Given the description of an element on the screen output the (x, y) to click on. 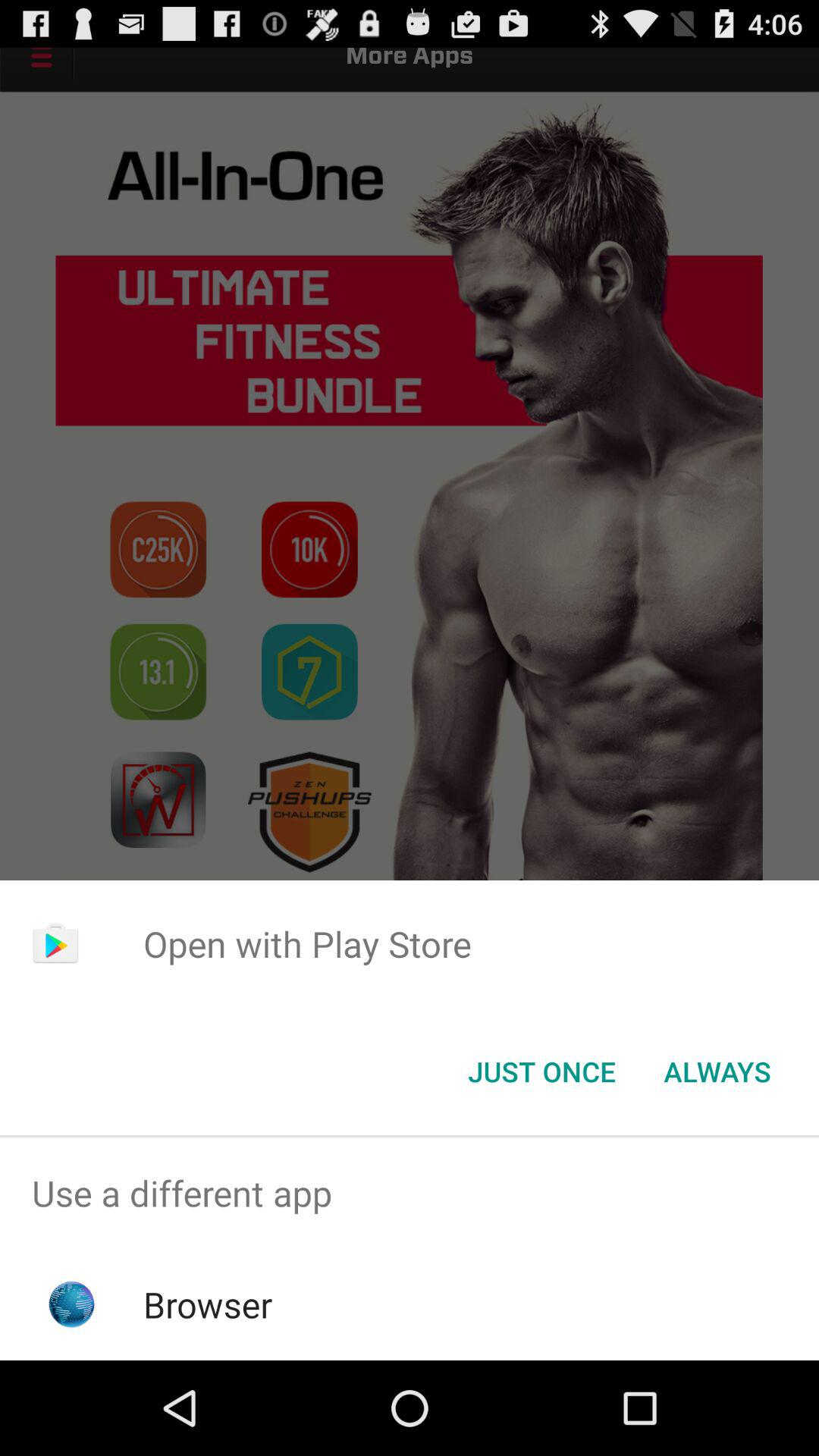
tap the button at the bottom right corner (717, 1071)
